Given the description of an element on the screen output the (x, y) to click on. 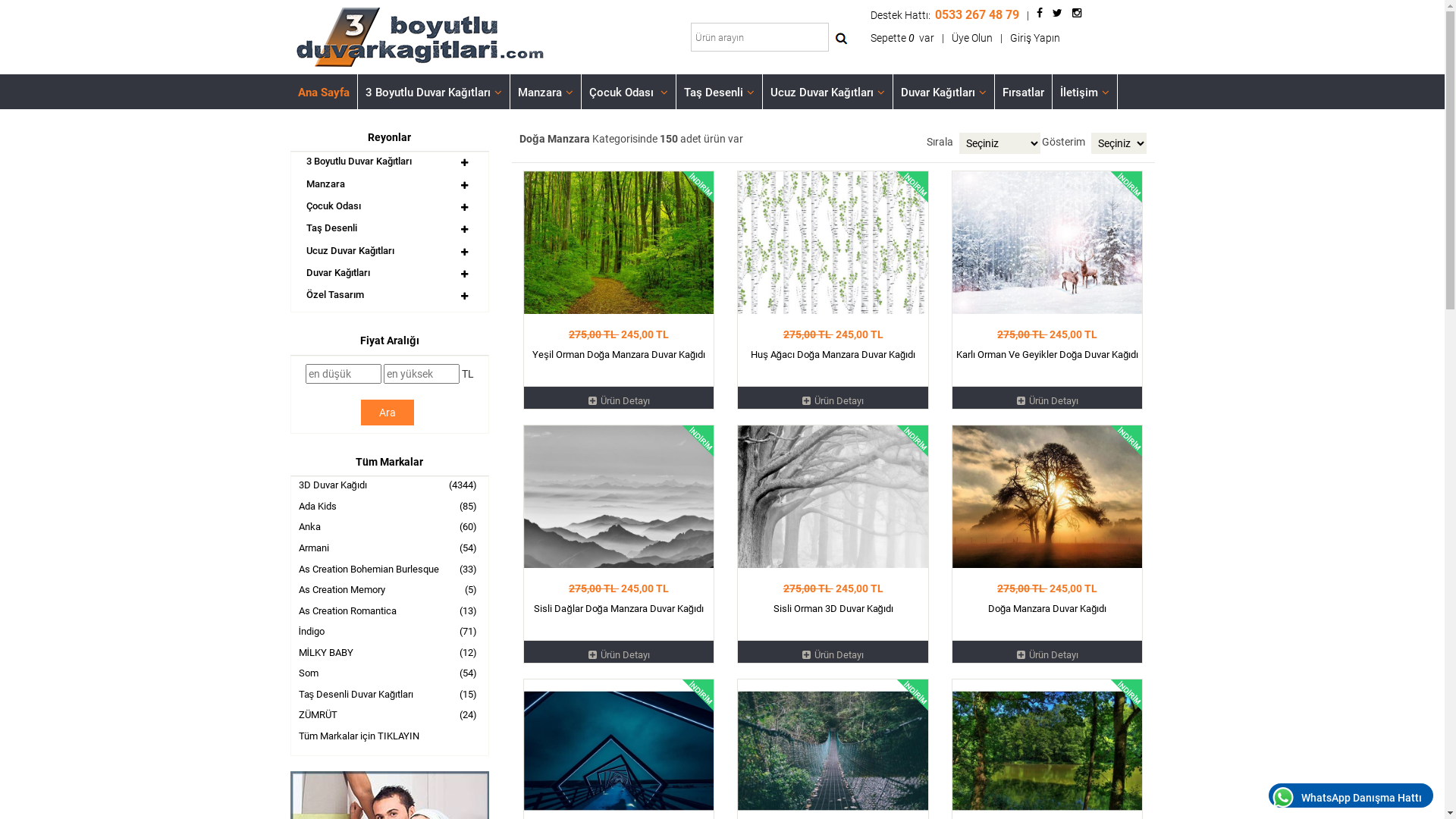
(5)
As Creation Memory Element type: text (390, 591)
Sepette 0 var Element type: text (902, 37)
Manzara Element type: text (544, 91)
Ana Sayfa Element type: text (322, 91)
| Element type: text (1027, 14)
(54)
Armani Element type: text (390, 549)
(85)
Ada Kids Element type: text (390, 507)
(33)
As Creation Bohemian Burlesque Element type: text (390, 570)
(60)
Anka Element type: text (390, 528)
Manzara Element type: text (325, 183)
Ara Element type: text (387, 412)
| Element type: text (1000, 37)
(54)
Som Element type: text (390, 674)
(13)
As Creation Romantica Element type: text (390, 612)
| Element type: text (942, 37)
